Given the description of an element on the screen output the (x, y) to click on. 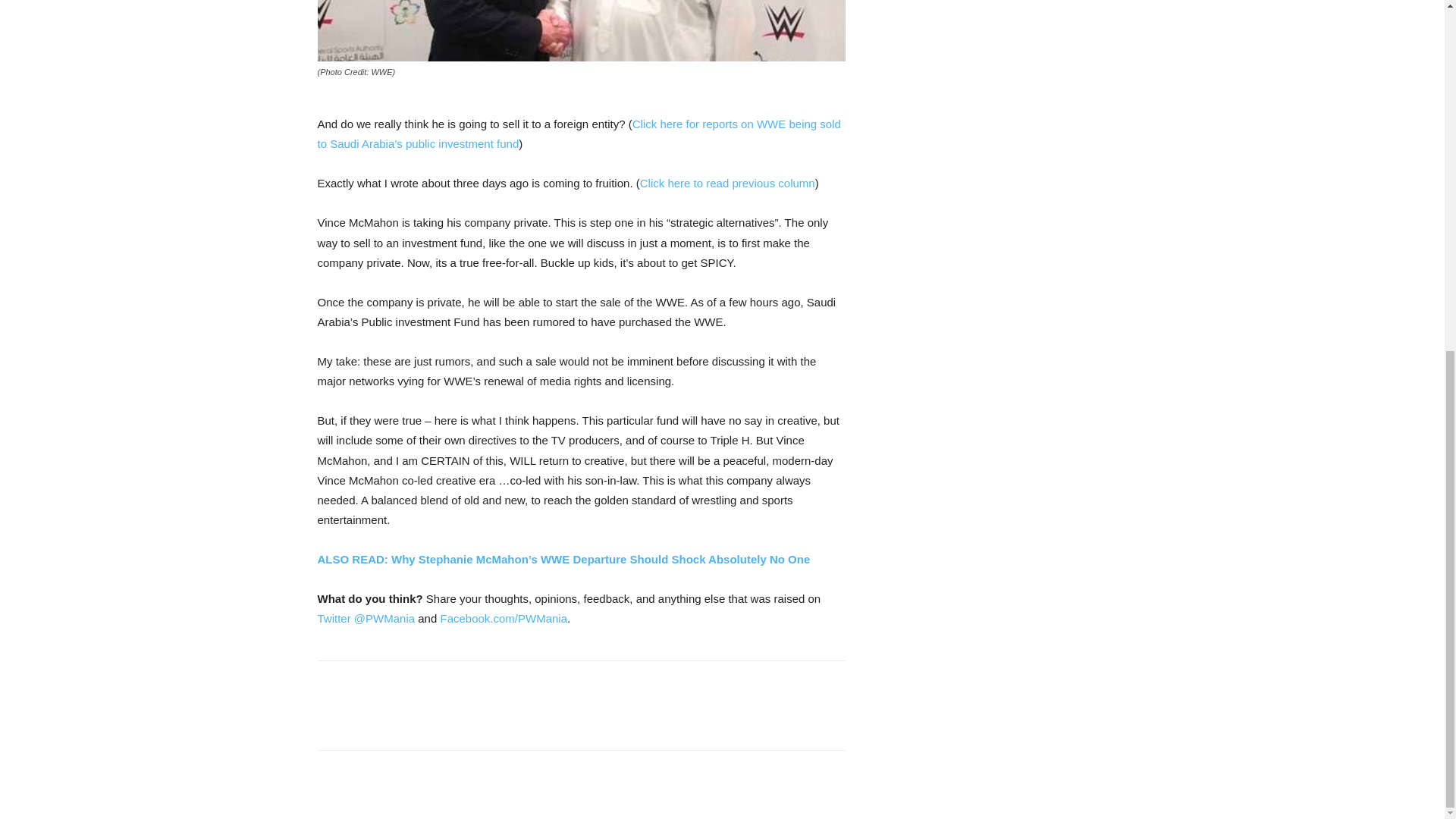
bottomFacebookLike (430, 684)
